Given the description of an element on the screen output the (x, y) to click on. 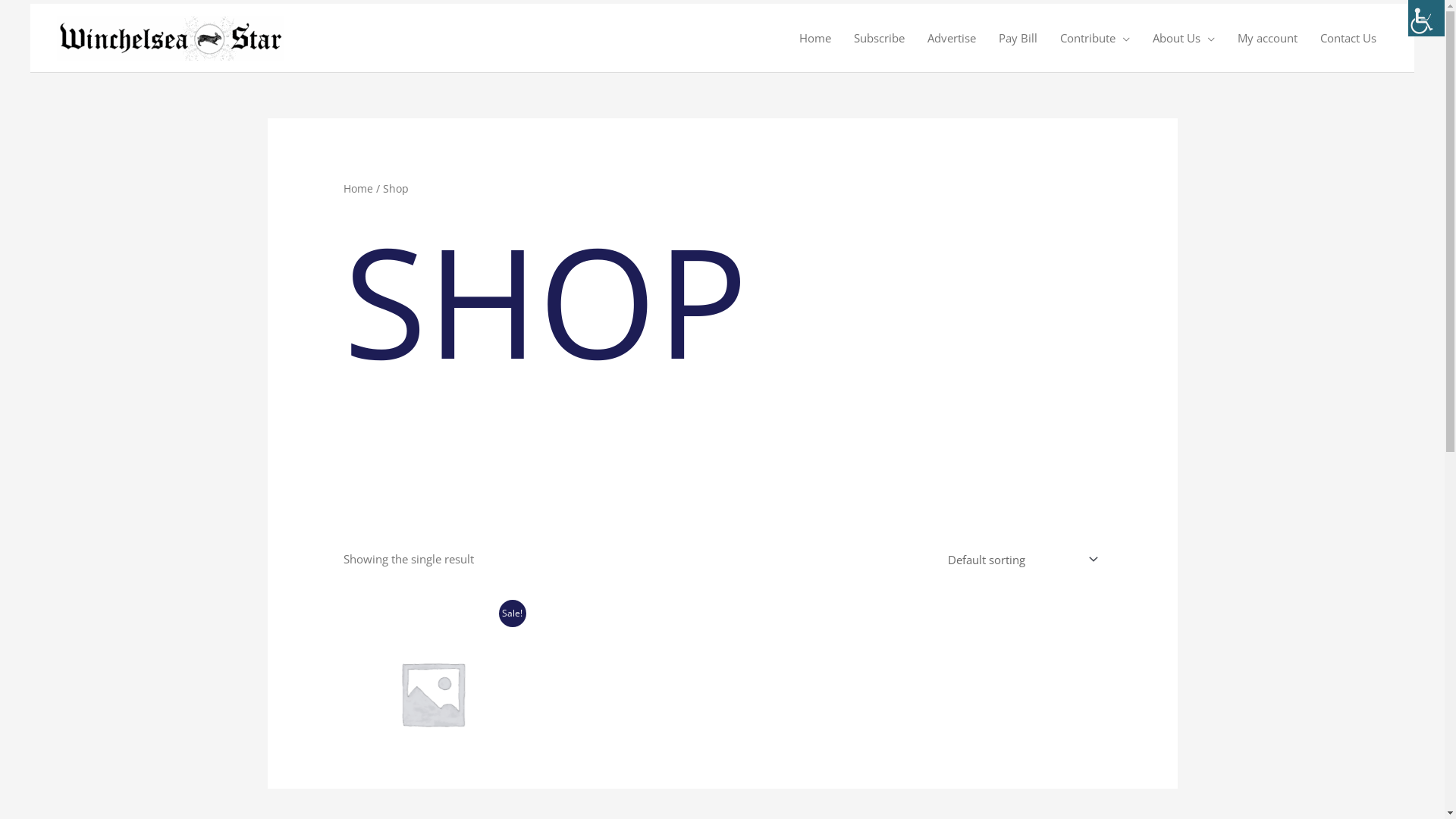
Skip to content Element type: text (29, 3)
About Us Element type: text (1183, 37)
Contribute Element type: text (1094, 37)
Advertise Element type: text (951, 37)
Subscribe Element type: text (879, 37)
Pay Bill Element type: text (1017, 37)
Contact Us Element type: text (1347, 37)
Accessibility Helper sidebar Element type: hover (1426, 18)
My account Element type: text (1267, 37)
Home Element type: text (814, 37)
Home Element type: text (358, 188)
